Given the description of an element on the screen output the (x, y) to click on. 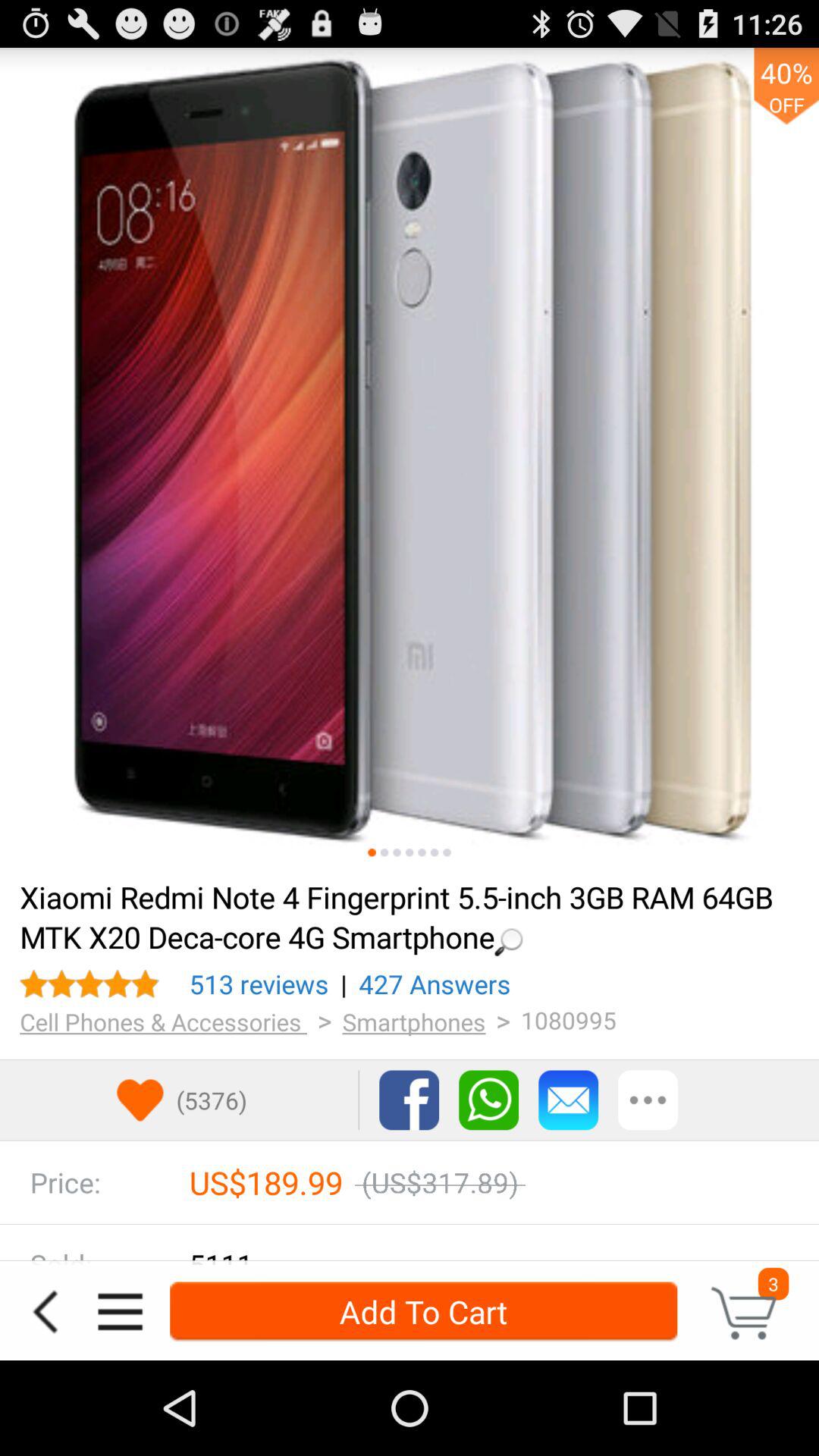
next (396, 852)
